Given the description of an element on the screen output the (x, y) to click on. 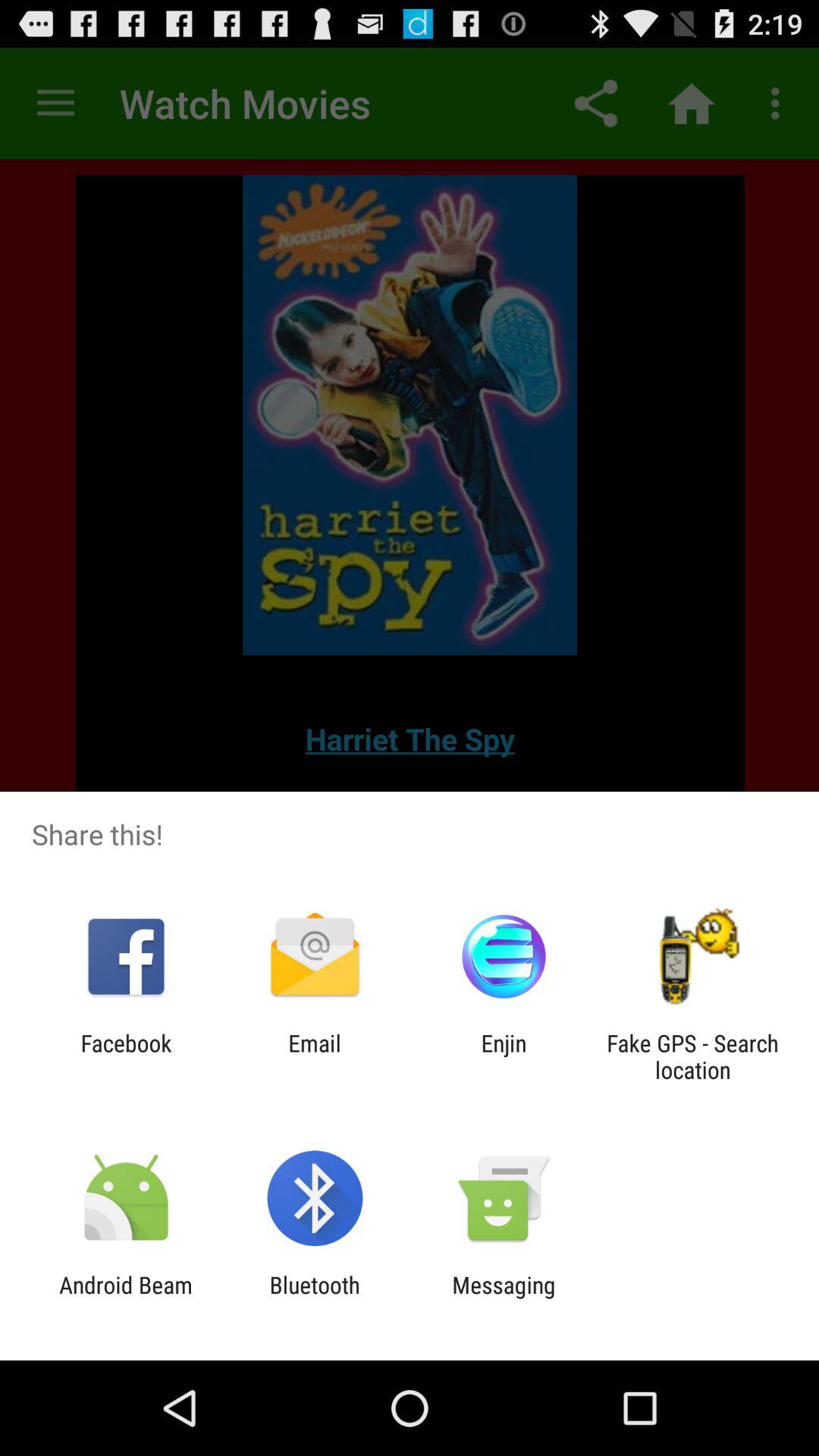
tap app next to the bluetooth (503, 1298)
